Given the description of an element on the screen output the (x, y) to click on. 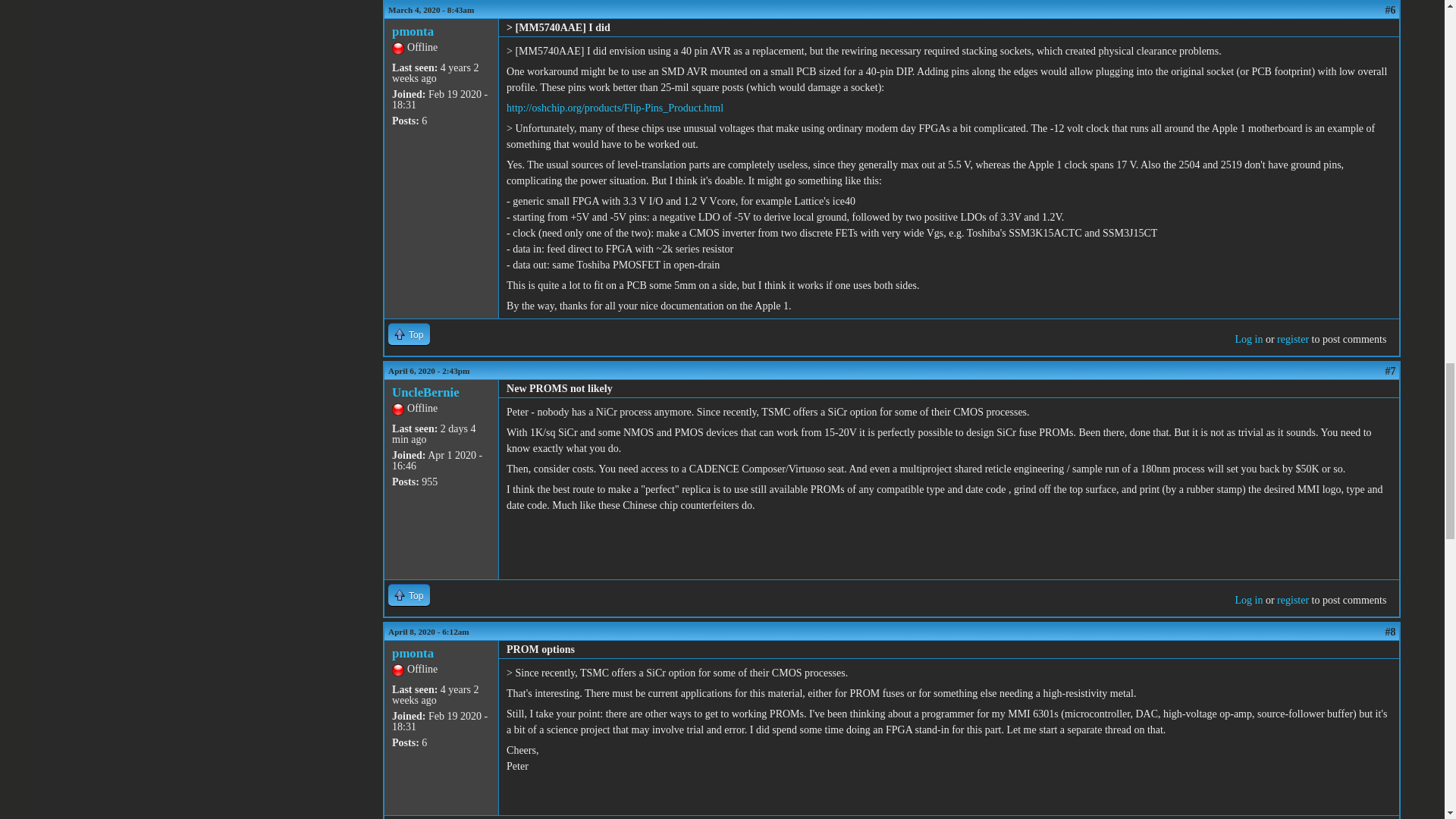
View user profile. (412, 31)
View user profile. (425, 391)
View user profile. (412, 653)
Jump to top of page (408, 333)
Jump to top of page (408, 594)
